Given the description of an element on the screen output the (x, y) to click on. 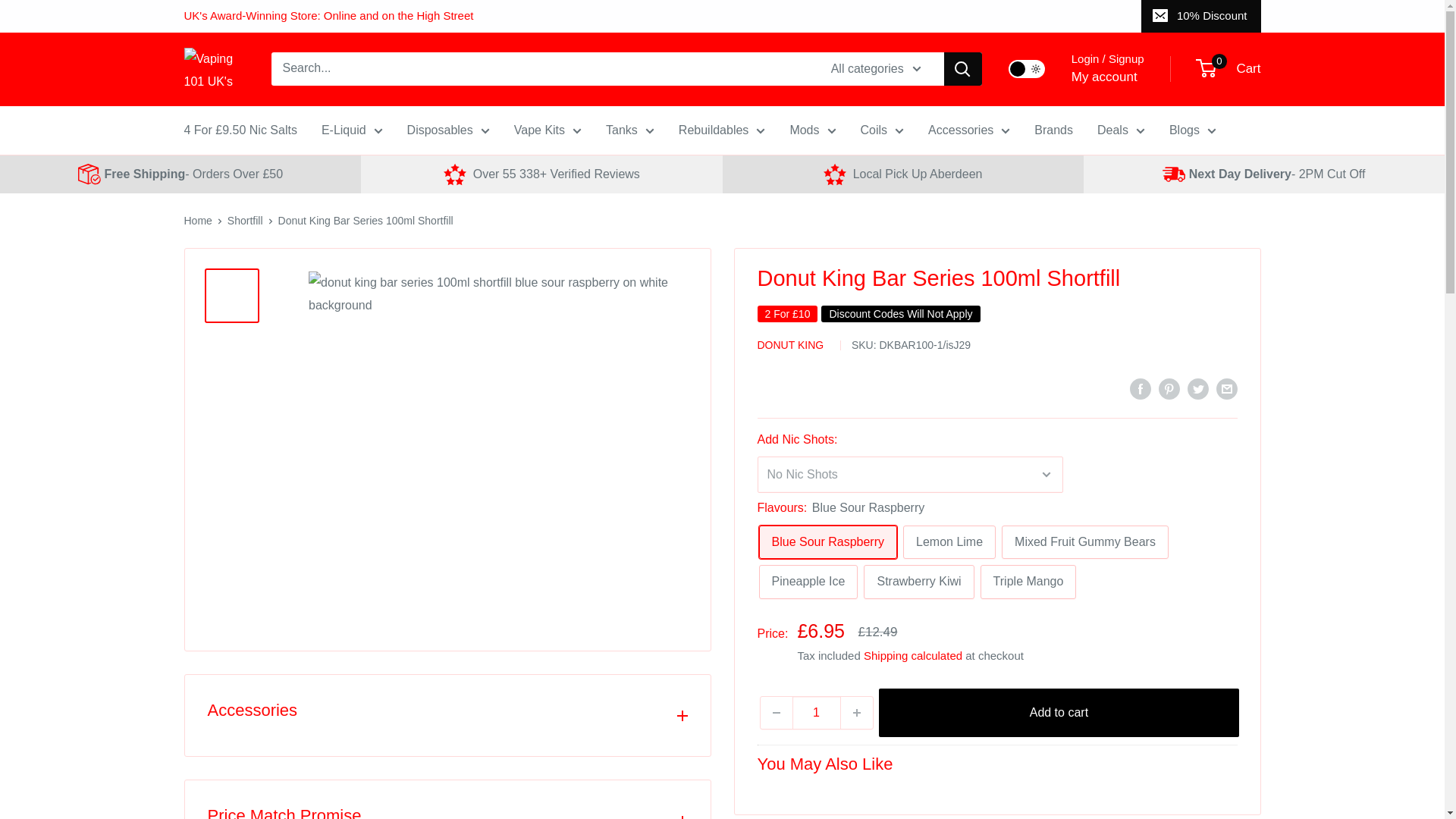
Blue Sour Raspberry (827, 542)
Mixed Fruit Gummy Bears (1085, 542)
on (1027, 68)
Triple Mango (1028, 581)
Decrease quantity by 1 (776, 712)
Pineapple Ice (807, 581)
Strawberry Kiwi (918, 581)
Lemon Lime (948, 542)
1 (816, 712)
Increase quantity by 1 (856, 712)
